Given the description of an element on the screen output the (x, y) to click on. 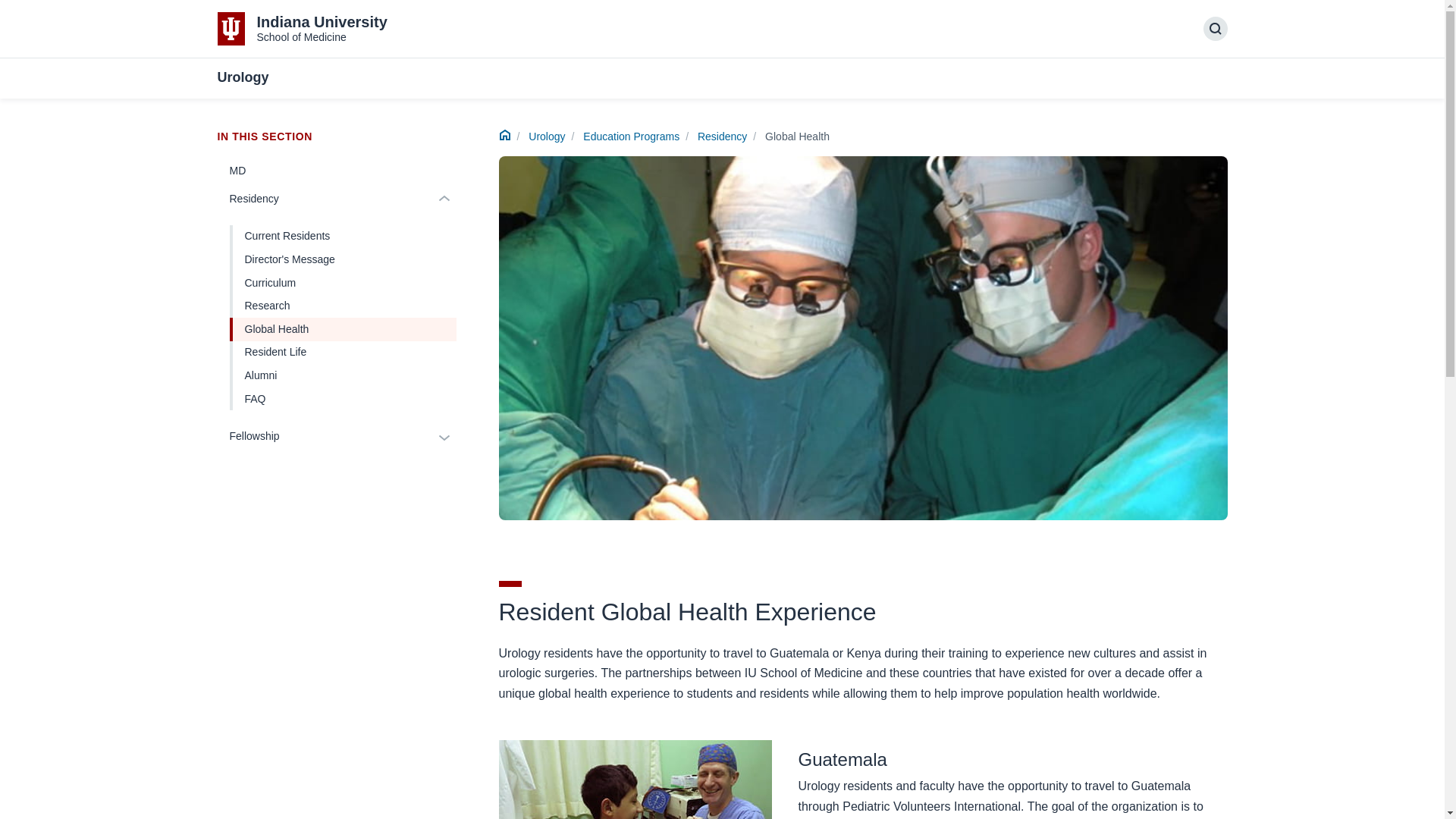
Curriculum (343, 282)
Resident Life (301, 28)
Residency (343, 352)
Alumni (721, 136)
Fellowship (343, 375)
Residency (323, 436)
FAQ (323, 198)
Toggle Search Box (343, 399)
Current Residents (1214, 28)
